Given the description of an element on the screen output the (x, y) to click on. 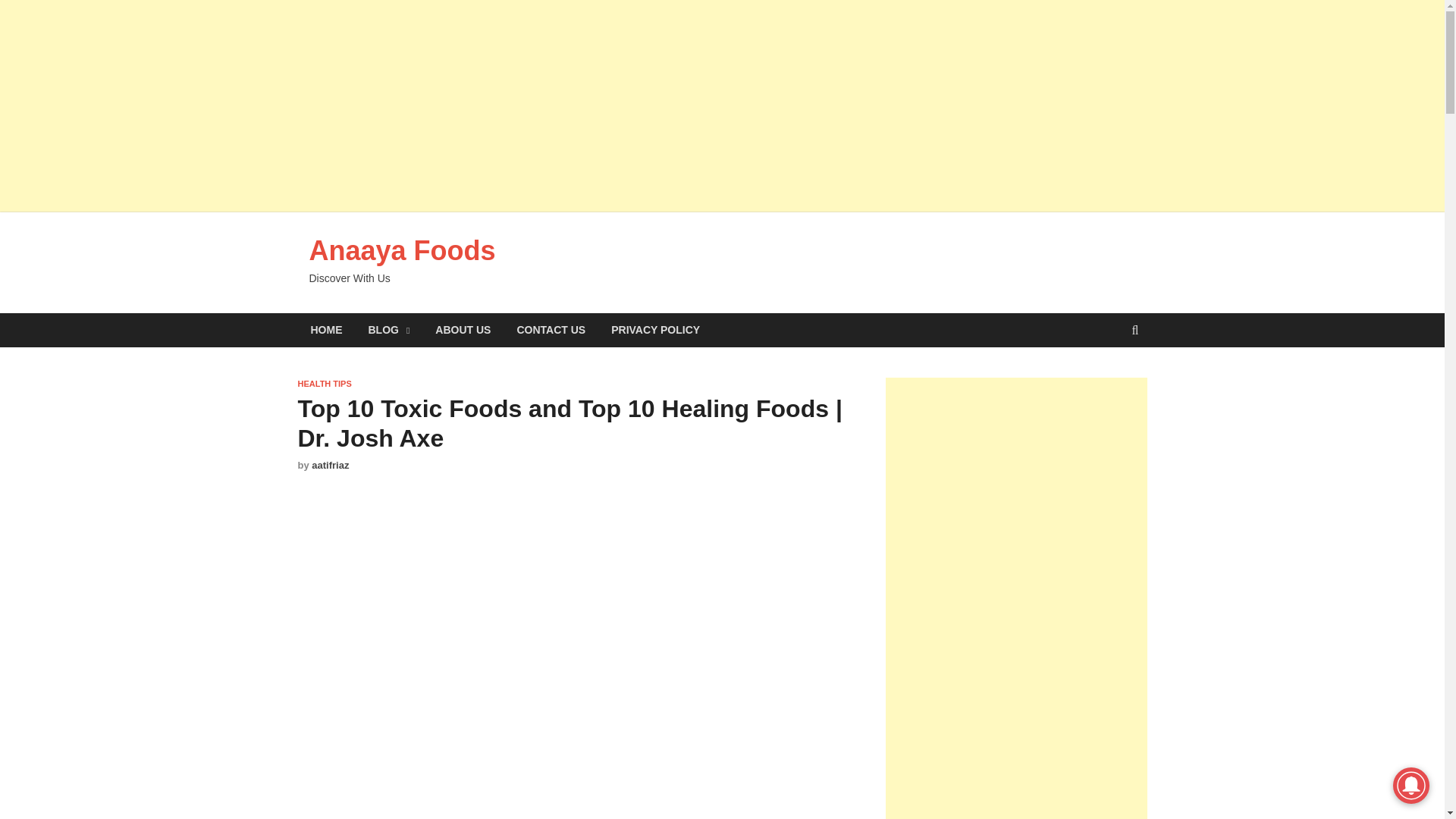
Advertisement (575, 563)
BLOG (388, 329)
Anaaya Foods (402, 250)
CONTACT US (550, 329)
ABOUT US (462, 329)
HOME (326, 329)
PRIVACY POLICY (655, 329)
